Given the description of an element on the screen output the (x, y) to click on. 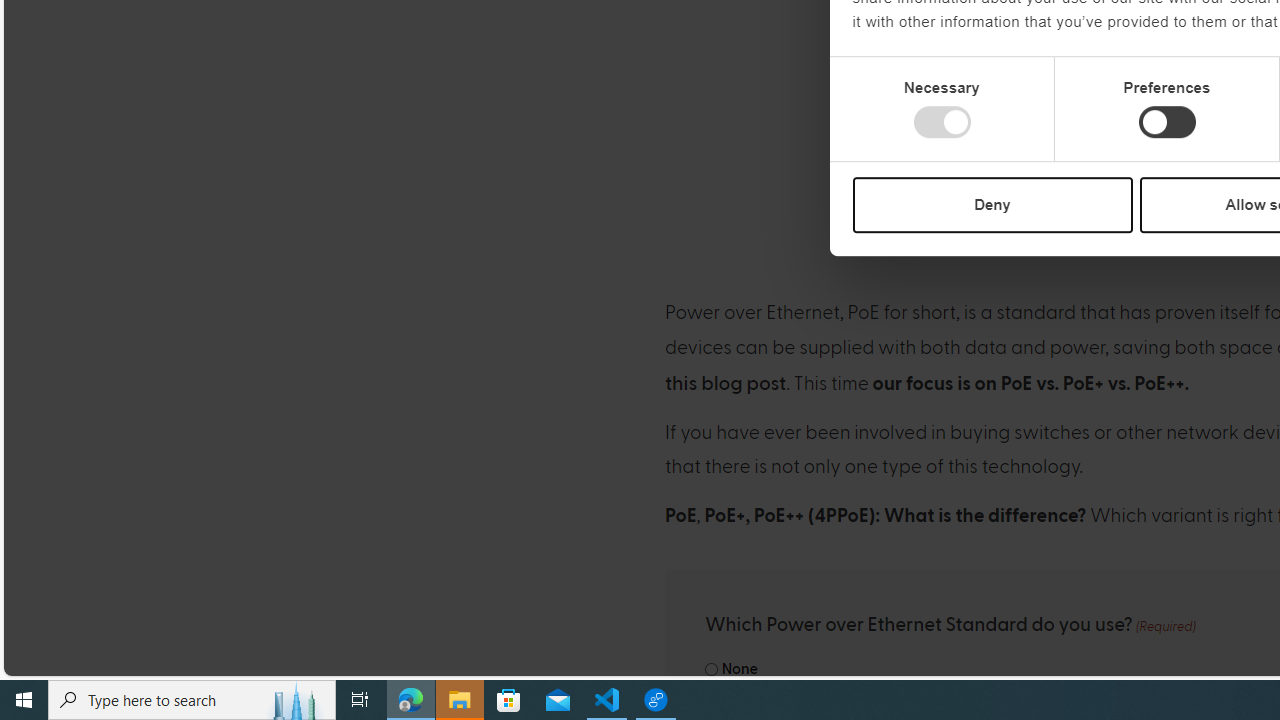
Deny (992, 204)
None (711, 669)
Necessary (941, 121)
Preferences (1166, 121)
